Given the description of an element on the screen output the (x, y) to click on. 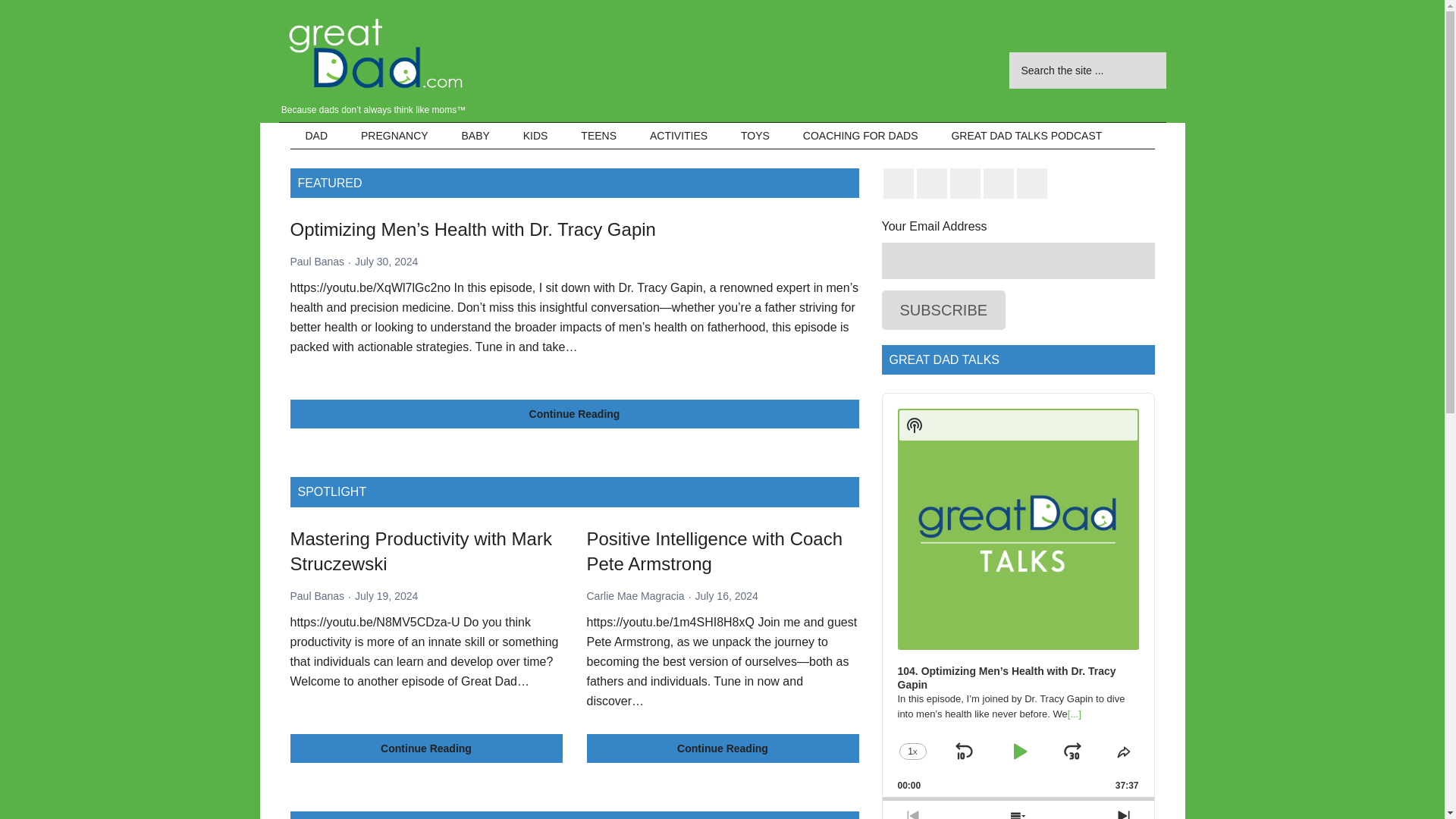
0 (1018, 798)
COACHING FOR DADS (860, 135)
Mastering Productivity with Mark Struczewski (420, 551)
TEENS (598, 135)
ACTIVITIES (678, 135)
BABY (475, 135)
Paul Banas (316, 261)
Subscribe (943, 310)
PREGNANCY (395, 135)
GREAT DAD TALKS PODCAST (1026, 135)
TOYS (754, 135)
DAD (315, 135)
